Given the description of an element on the screen output the (x, y) to click on. 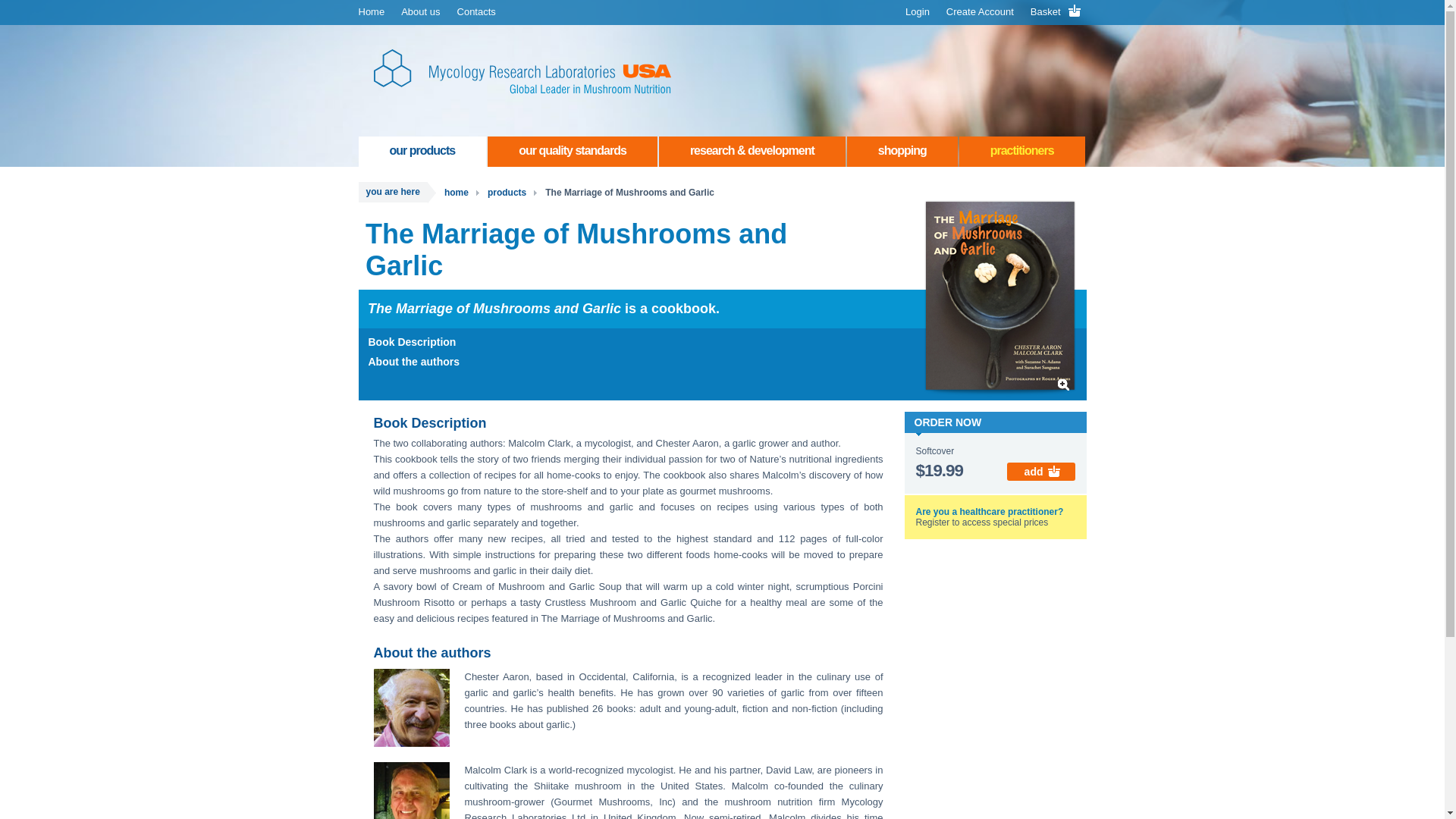
Home (371, 12)
Create Account (979, 12)
Contacts (475, 12)
Basket (1058, 12)
Login (917, 12)
our products (422, 151)
About us (420, 12)
